Given the description of an element on the screen output the (x, y) to click on. 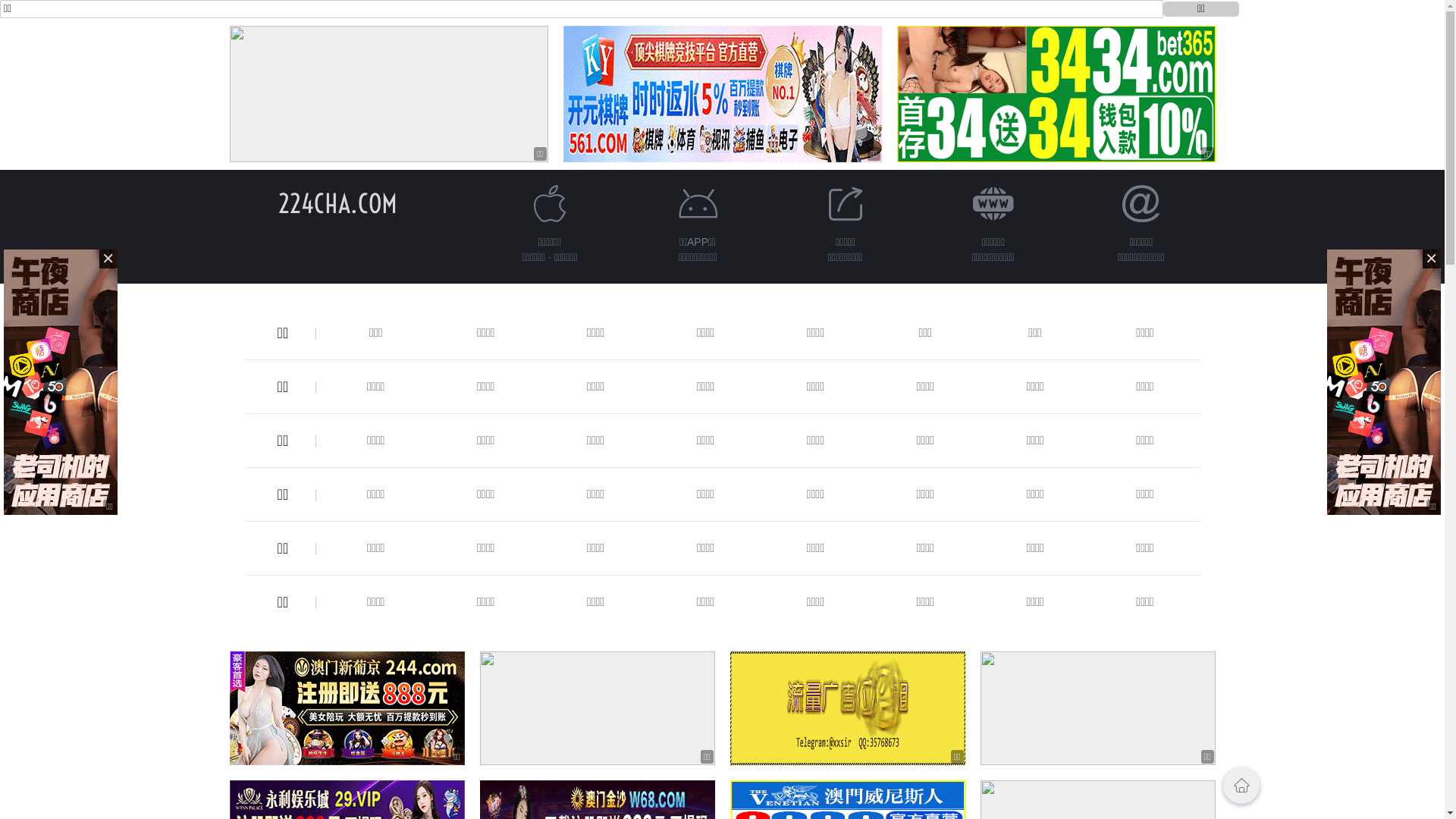
224CHA.COM Element type: text (337, 203)
